Given the description of an element on the screen output the (x, y) to click on. 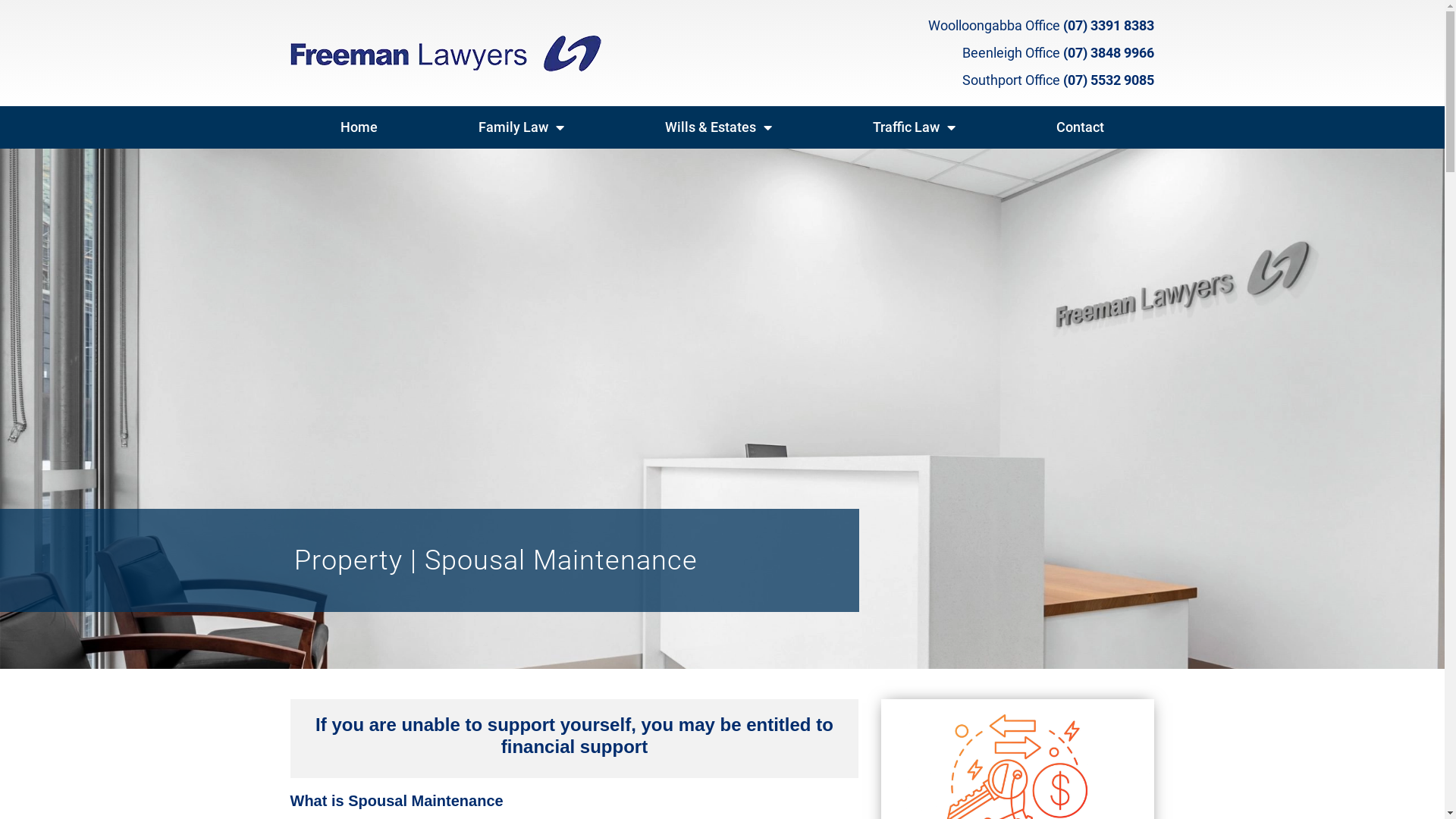
Beenleigh Office (07) 3848 9966 Element type: text (1058, 52)
Home Element type: text (358, 127)
Woolloongabba Office (07) 3391 8383 Element type: text (1041, 25)
Wills & Estates Element type: text (718, 127)
Southport Office (07) 5532 9085 Element type: text (1058, 79)
Traffic Law Element type: text (913, 127)
Contact Element type: text (1079, 127)
Family Law Element type: text (520, 127)
